Given the description of an element on the screen output the (x, y) to click on. 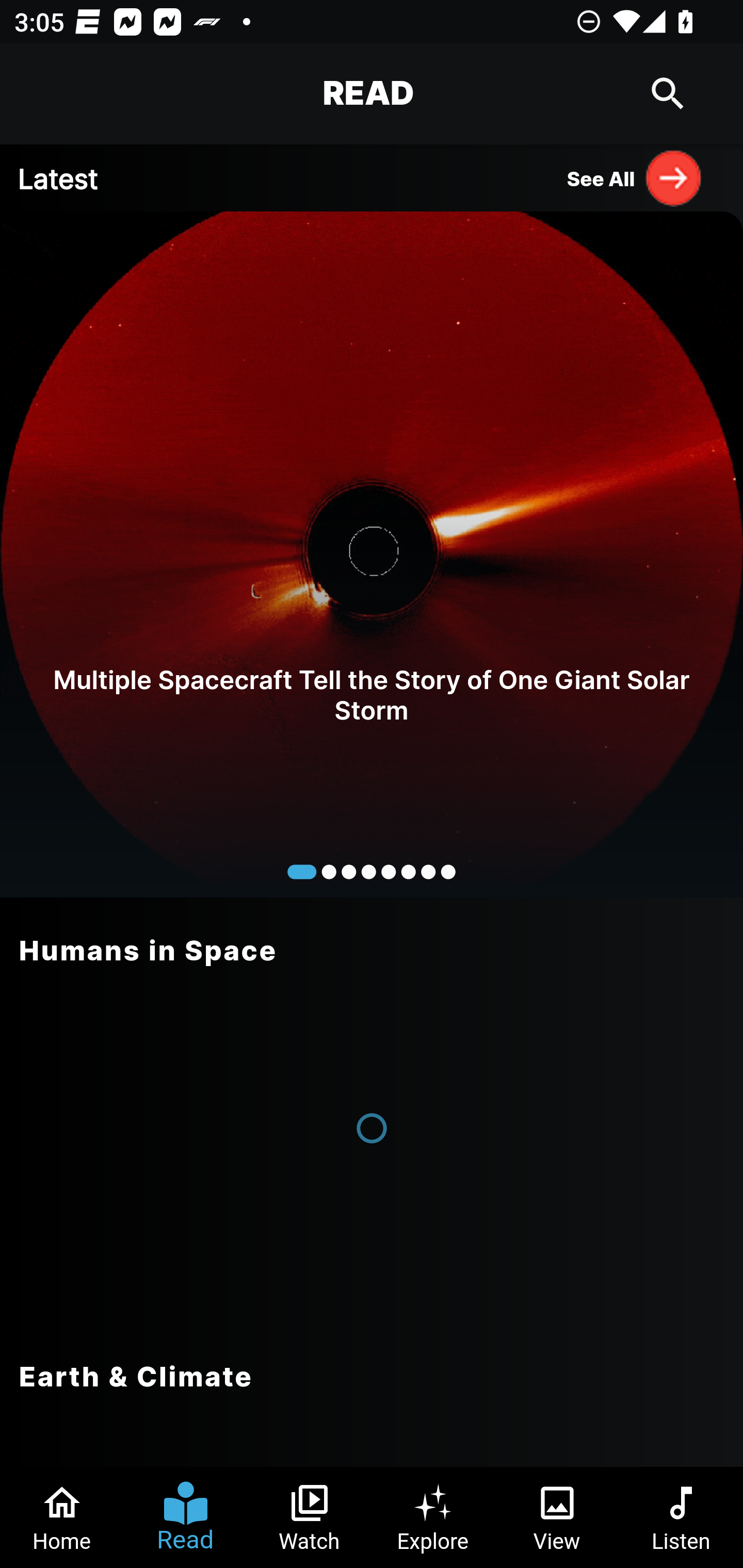
See All (634, 177)
Home
Tab 1 of 6 (62, 1517)
Read
Tab 2 of 6 (185, 1517)
Watch
Tab 3 of 6 (309, 1517)
Explore
Tab 4 of 6 (433, 1517)
View
Tab 5 of 6 (556, 1517)
Listen
Tab 6 of 6 (680, 1517)
